Given the description of an element on the screen output the (x, y) to click on. 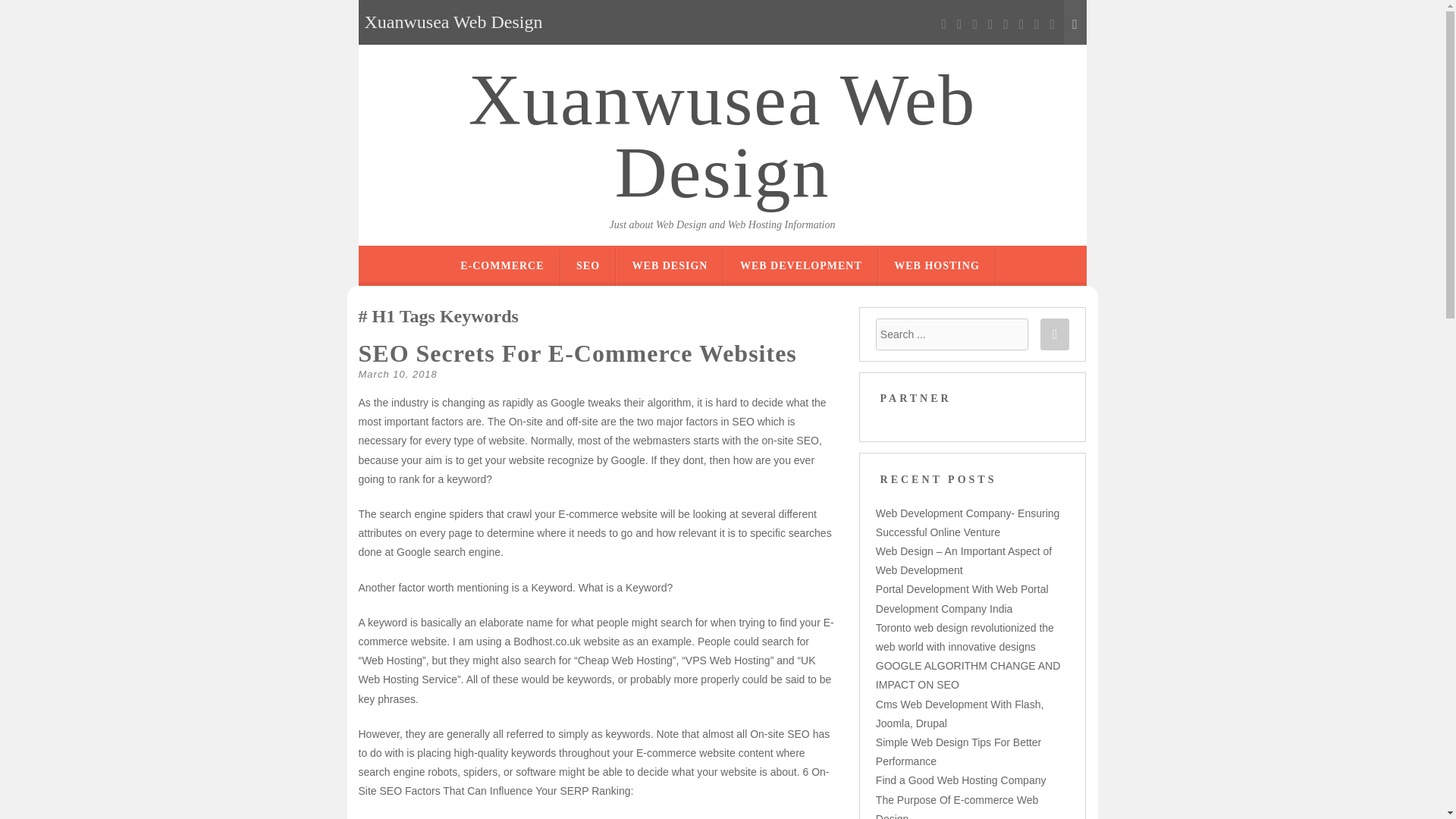
SKIP TO CONTENT (775, 255)
Cms Web Development With Flash, Joomla, Drupal (959, 713)
WEB DESIGN (669, 265)
March 10, 2018 (397, 374)
Simple Web Design Tips For Better Performance (958, 751)
WEB DEVELOPMENT (800, 265)
E-COMMERCE (501, 265)
The Purpose Of E-commerce Web Design (957, 806)
SEO Secrets For E-Commerce Websites (577, 352)
Web Development Company- Ensuring Successful Online Venture (967, 522)
WEB HOSTING (936, 265)
Find a Good Web Hosting Company (961, 779)
Portal Development With Web Portal Development Company India (962, 598)
Xuanwusea Web Design (722, 136)
